Given the description of an element on the screen output the (x, y) to click on. 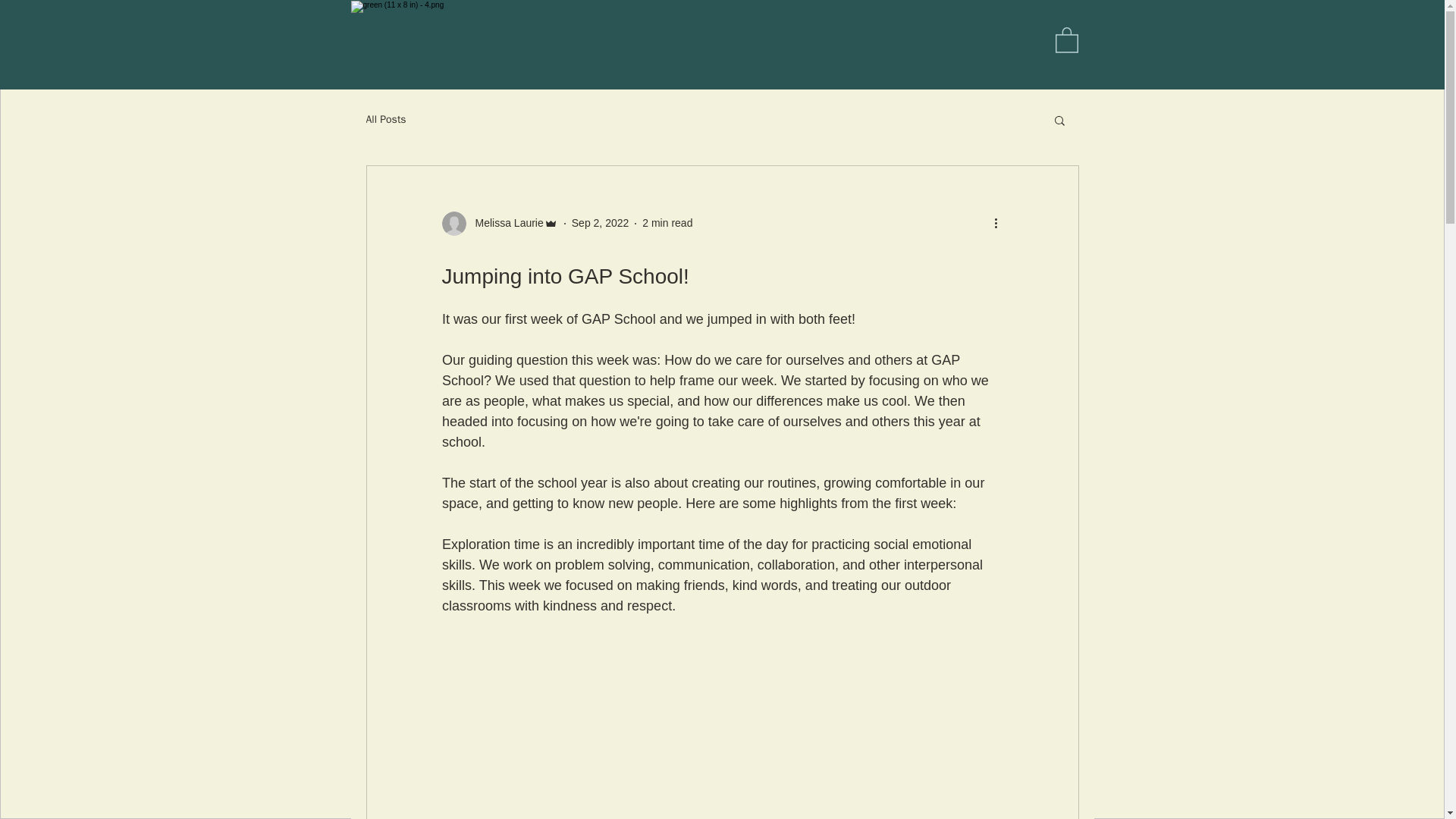
Sep 2, 2022 (600, 223)
Melissa Laurie (504, 222)
Melissa Laurie (499, 223)
All Posts (385, 119)
2 min read (667, 223)
